Given the description of an element on the screen output the (x, y) to click on. 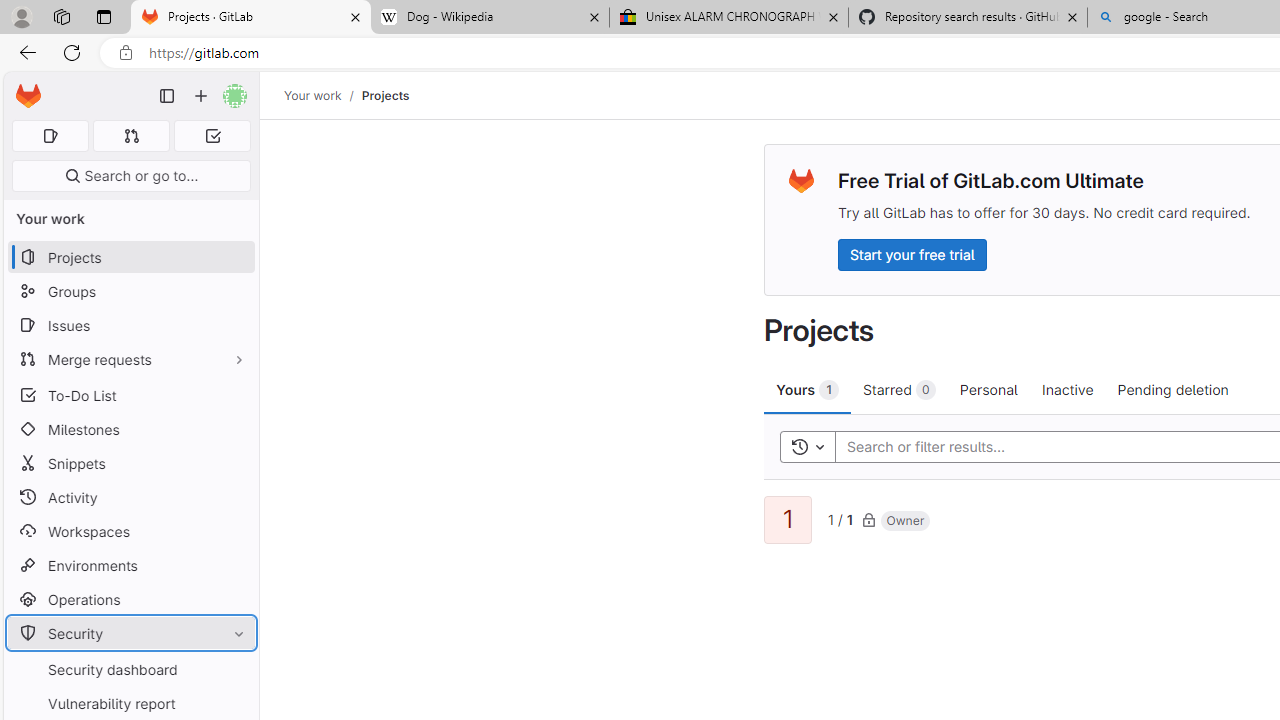
Activity (130, 497)
Activity (130, 497)
1 (787, 519)
Environments (130, 564)
Operations (130, 599)
Operations (130, 599)
Security dashboard (130, 669)
Milestones (130, 429)
Starred 0 (899, 389)
